Given the description of an element on the screen output the (x, y) to click on. 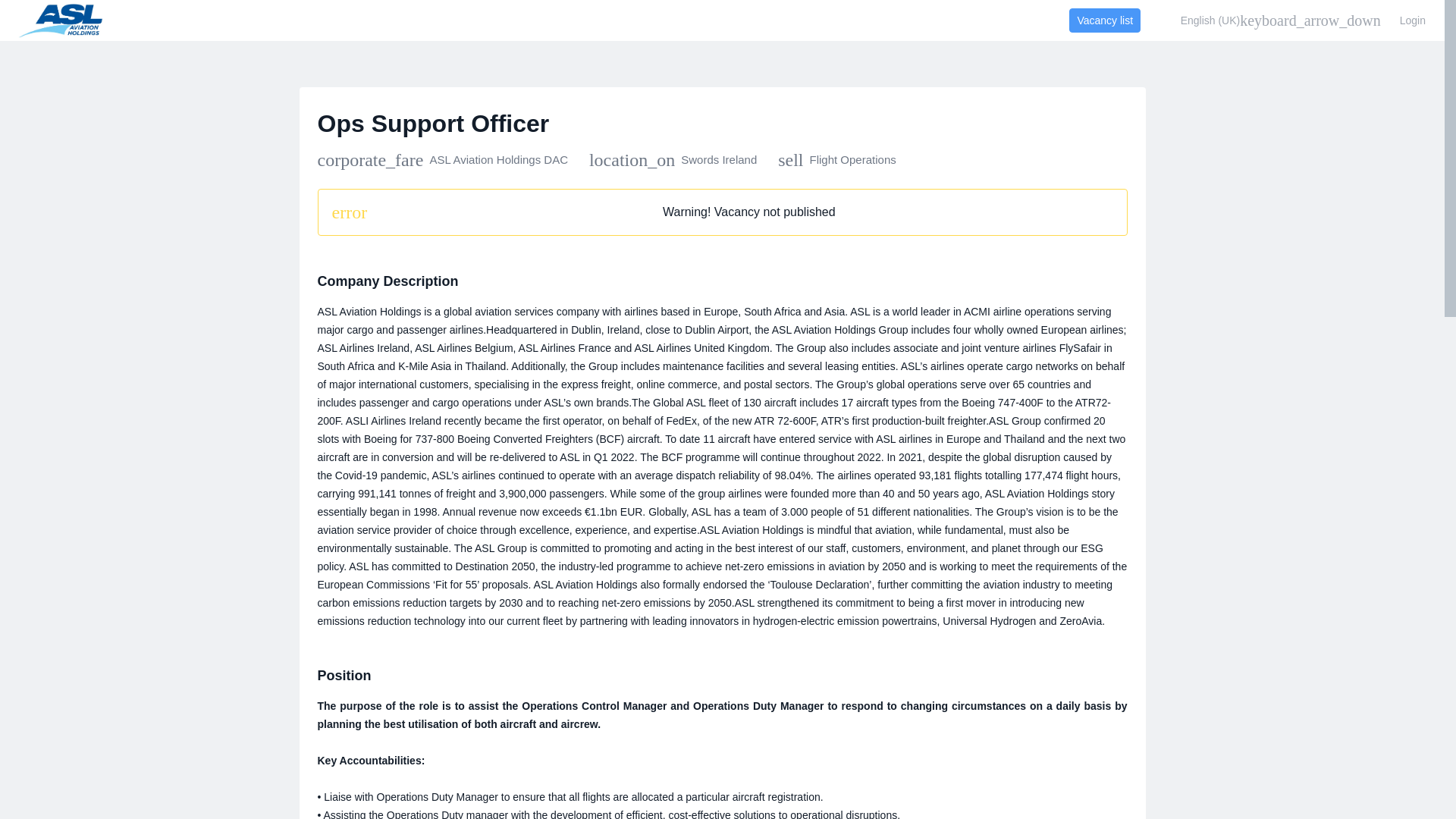
Location (673, 159)
Functional Area (836, 159)
Company (442, 159)
Login (1412, 20)
Vacancy list (1104, 20)
